Given the description of an element on the screen output the (x, y) to click on. 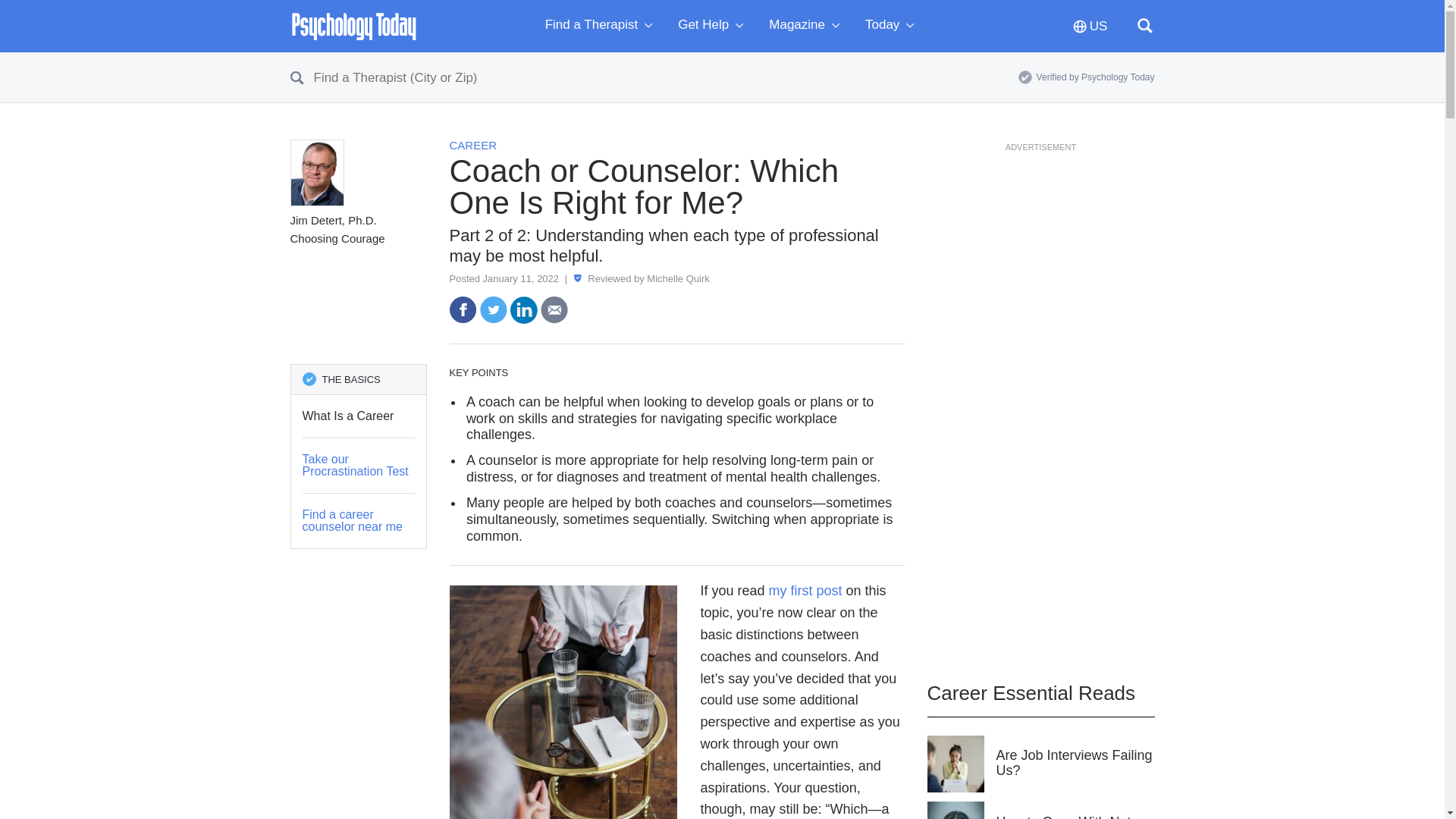
Psychology Today (352, 25)
Get Help (714, 25)
Find a Therapist (602, 25)
